Given the description of an element on the screen output the (x, y) to click on. 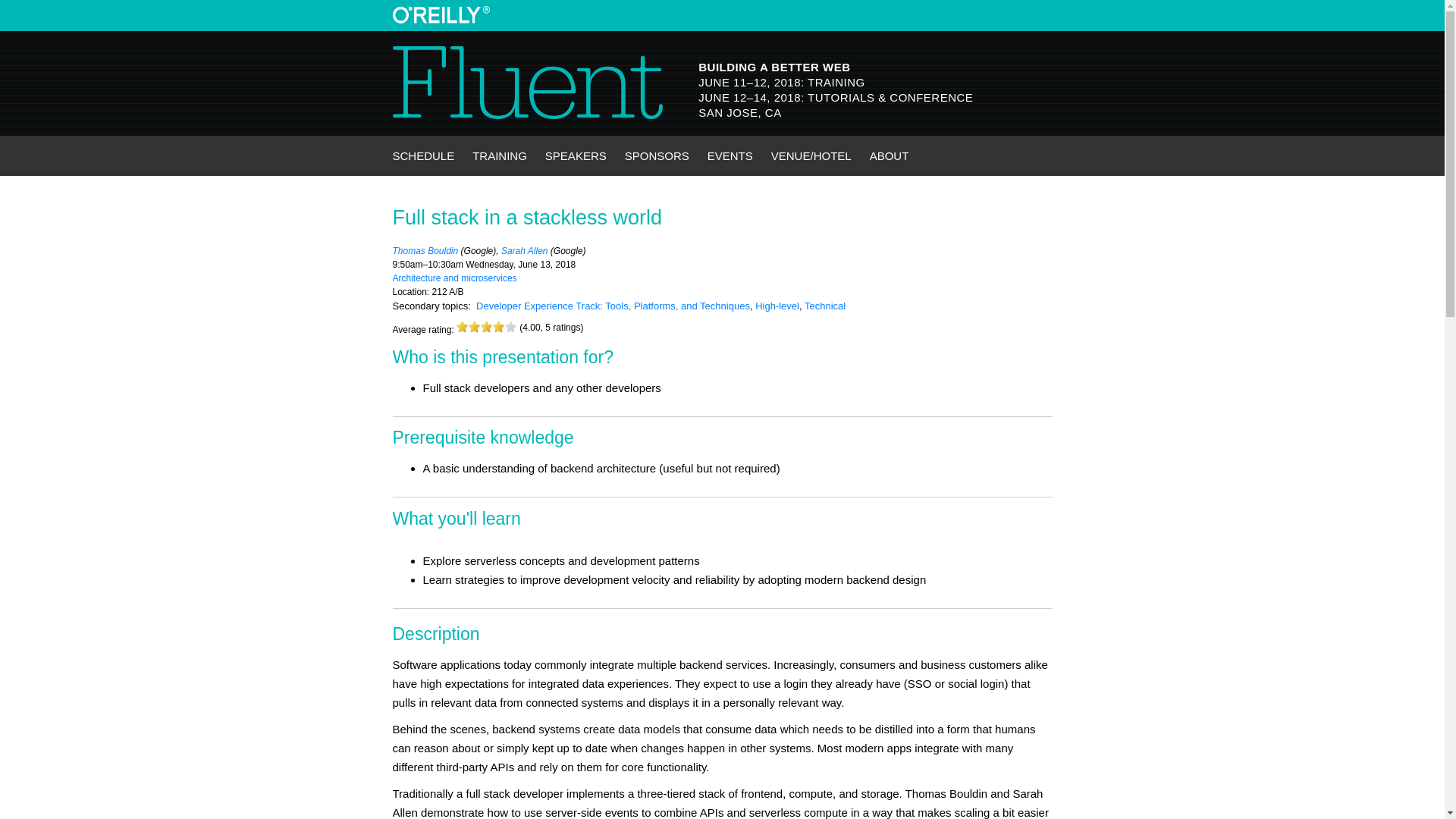
TRAINING (499, 155)
High-level (777, 306)
SPEAKERS (575, 155)
EVENTS (729, 155)
SPONSORS (656, 155)
Thomas Bouldin (425, 250)
ABOUT (889, 155)
Architecture and microservices (454, 277)
Developer Experience Track: Tools, Platforms, and Techniques (612, 306)
Sarah Allen (524, 250)
SCHEDULE (424, 155)
Technical (825, 306)
